Given the description of an element on the screen output the (x, y) to click on. 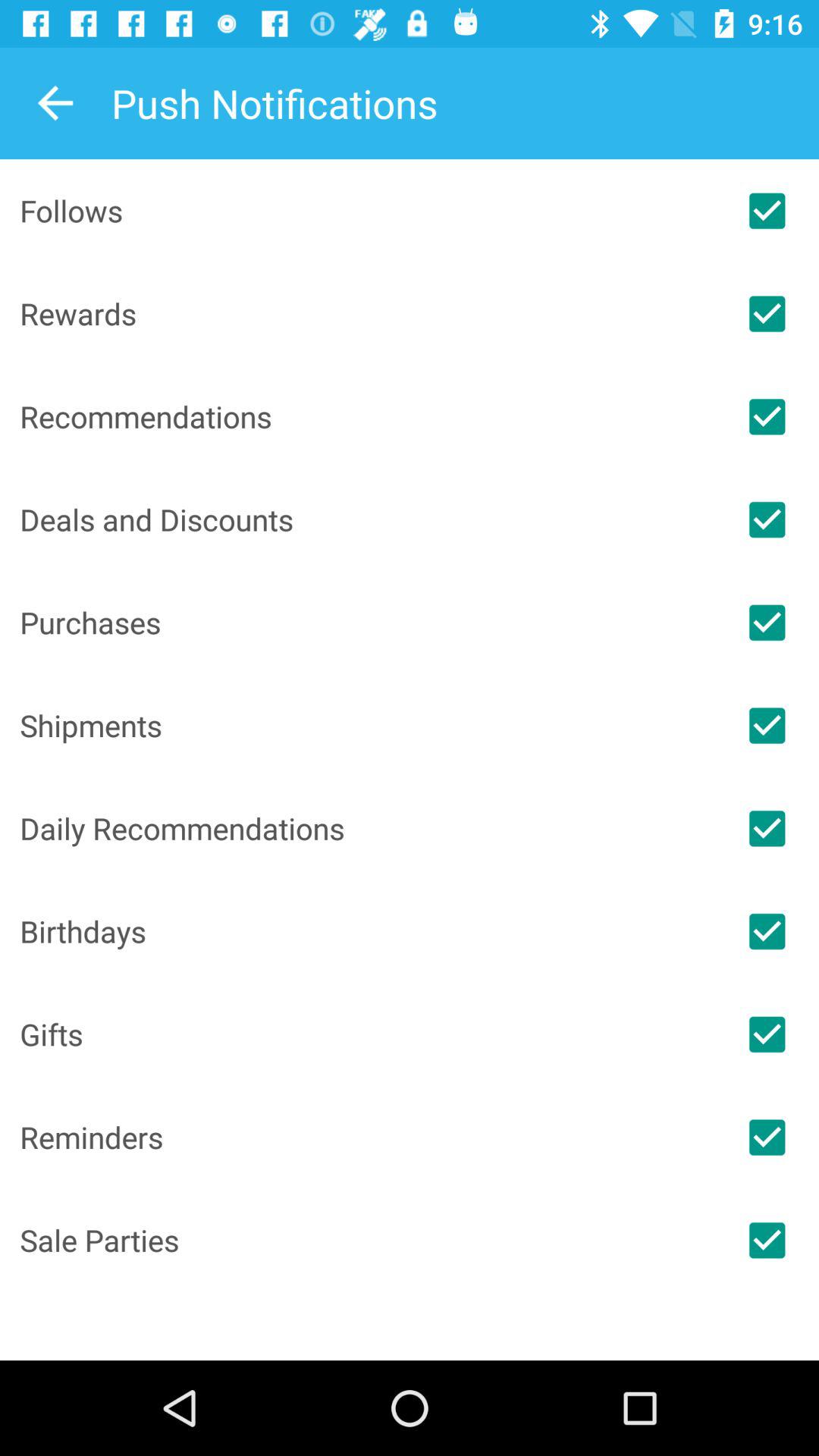
check deals and discount box (767, 519)
